Given the description of an element on the screen output the (x, y) to click on. 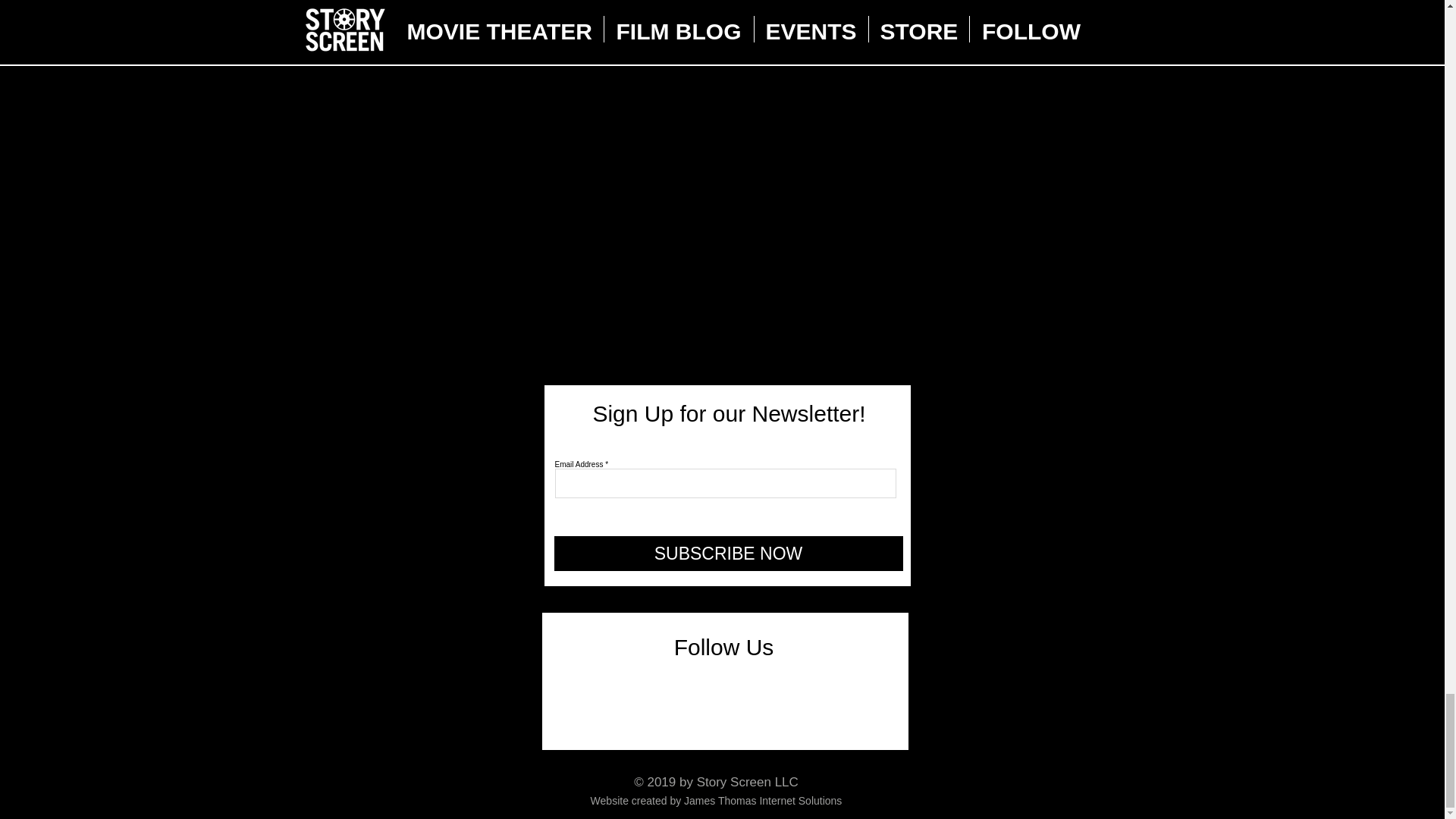
SUBSCRIBE NOW (727, 553)
